Given the description of an element on the screen output the (x, y) to click on. 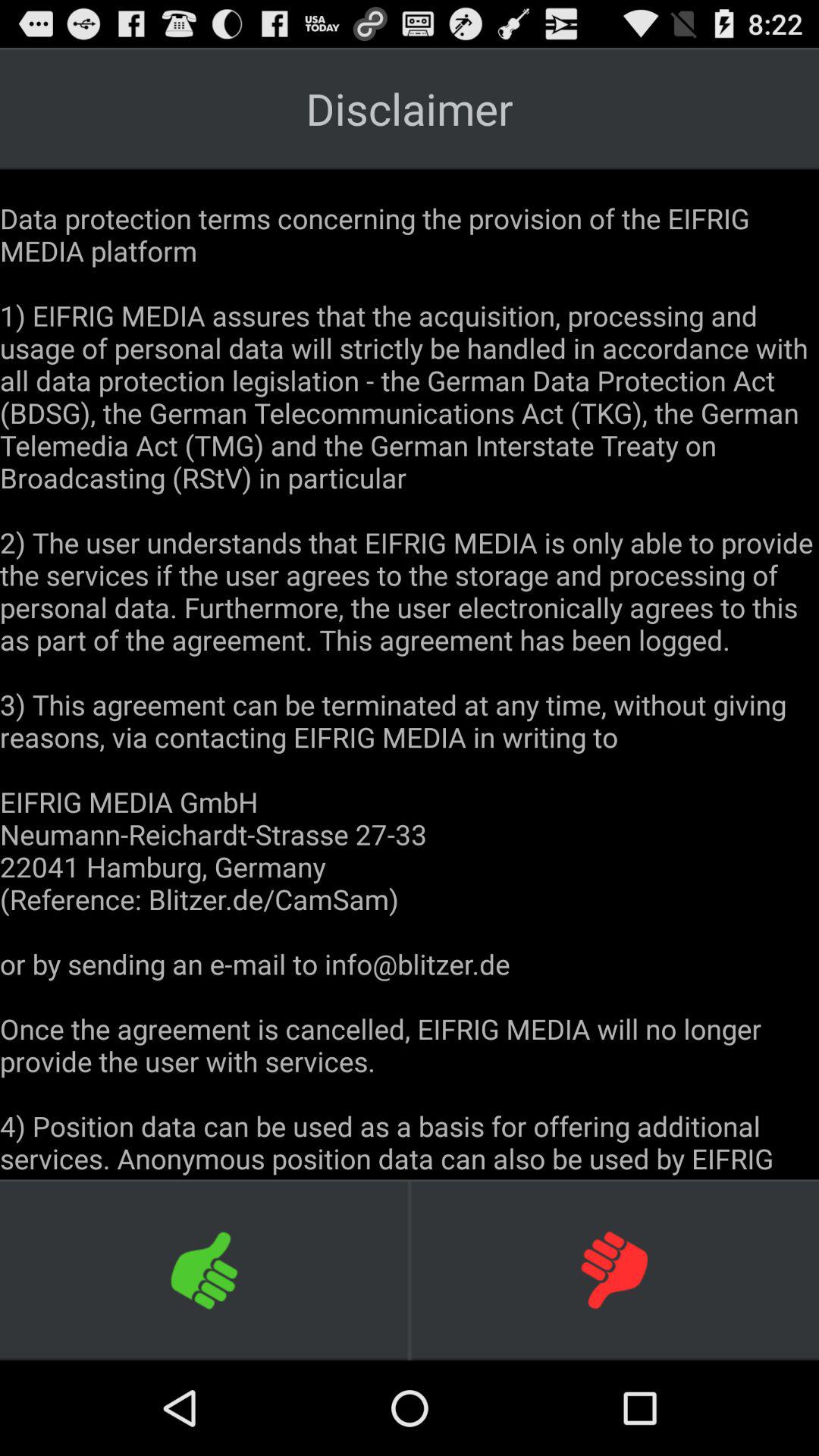
tap item below data protection terms (614, 1269)
